Given the description of an element on the screen output the (x, y) to click on. 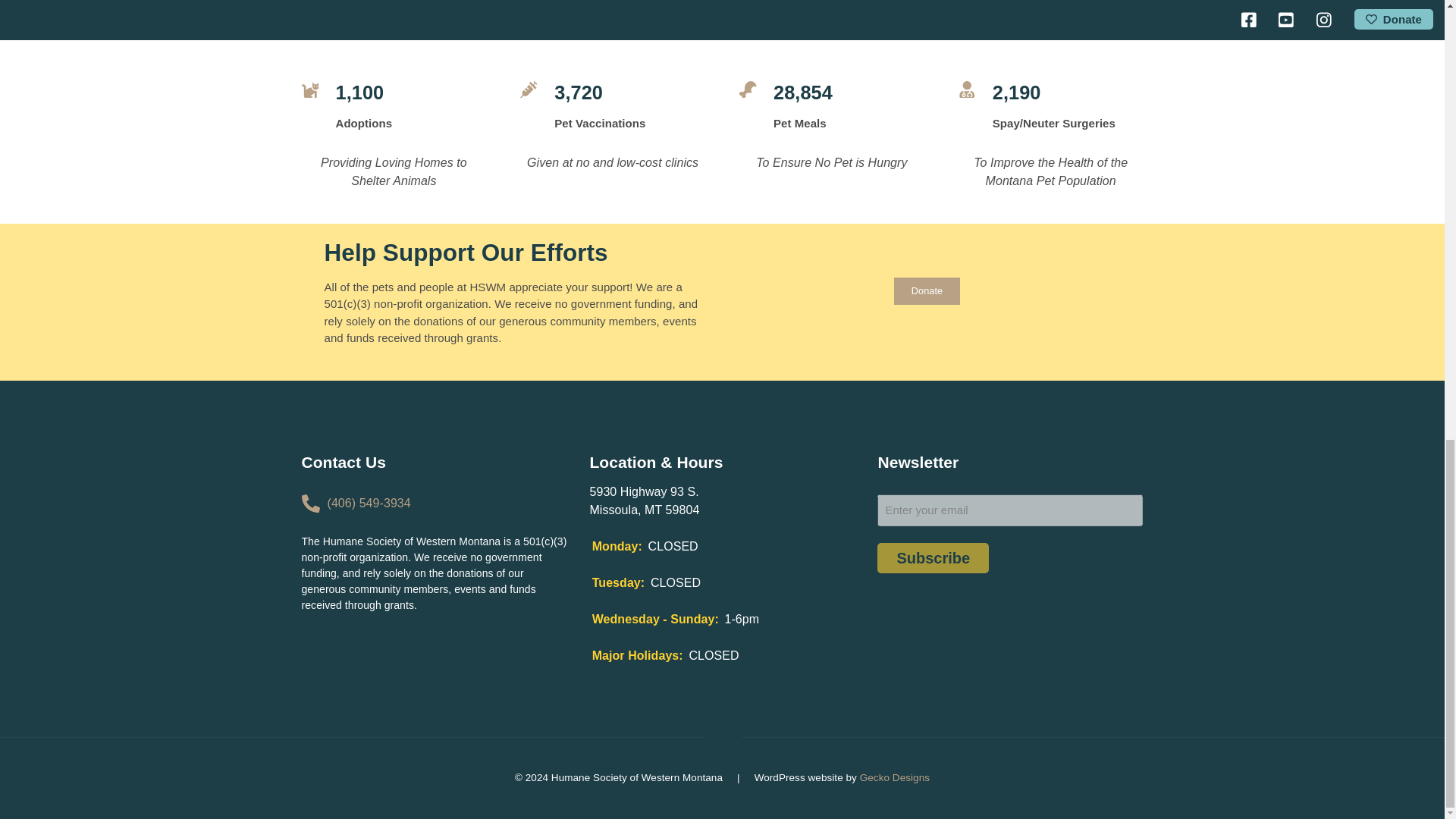
Subscribe (932, 557)
